Given the description of an element on the screen output the (x, y) to click on. 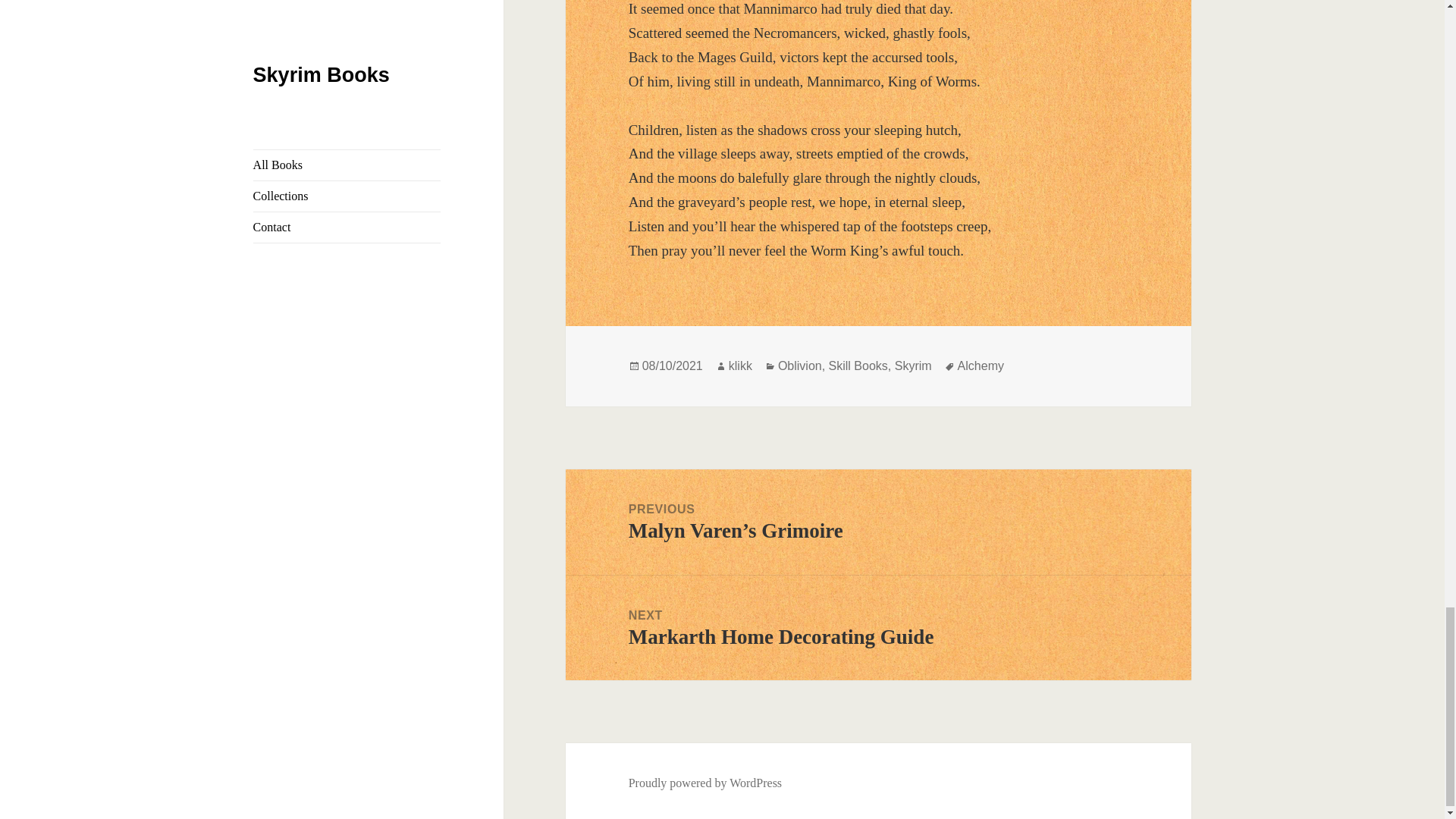
Oblivion (799, 366)
Skill Books (858, 366)
klikk (740, 366)
Proudly powered by WordPress (704, 783)
Skyrim (878, 627)
Alchemy (913, 366)
